Given the description of an element on the screen output the (x, y) to click on. 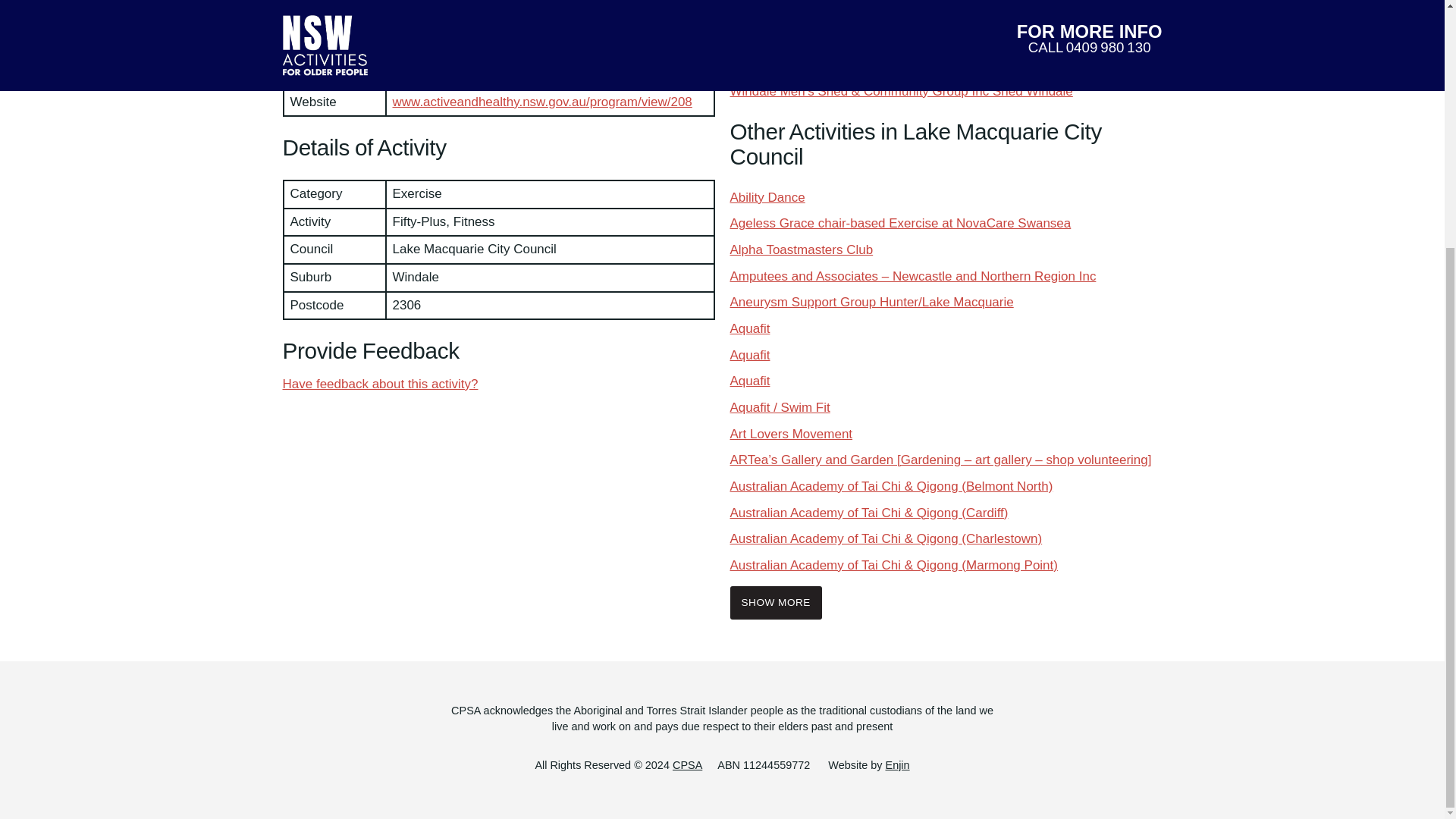
BaptistCare Windale Community Centre (843, 38)
Aquafit (749, 380)
Aquafit (749, 355)
Windale Library (773, 64)
WordPress website designed and developed by Enjin (897, 765)
Ability Dance (767, 197)
Aquafit (749, 328)
Art Lovers Movement (790, 433)
Ageless Grace chair-based Exercise at NovaCare Swansea (899, 223)
Alpha Toastmasters Club (800, 249)
Have feedback about this activity? (379, 383)
